Given the description of an element on the screen output the (x, y) to click on. 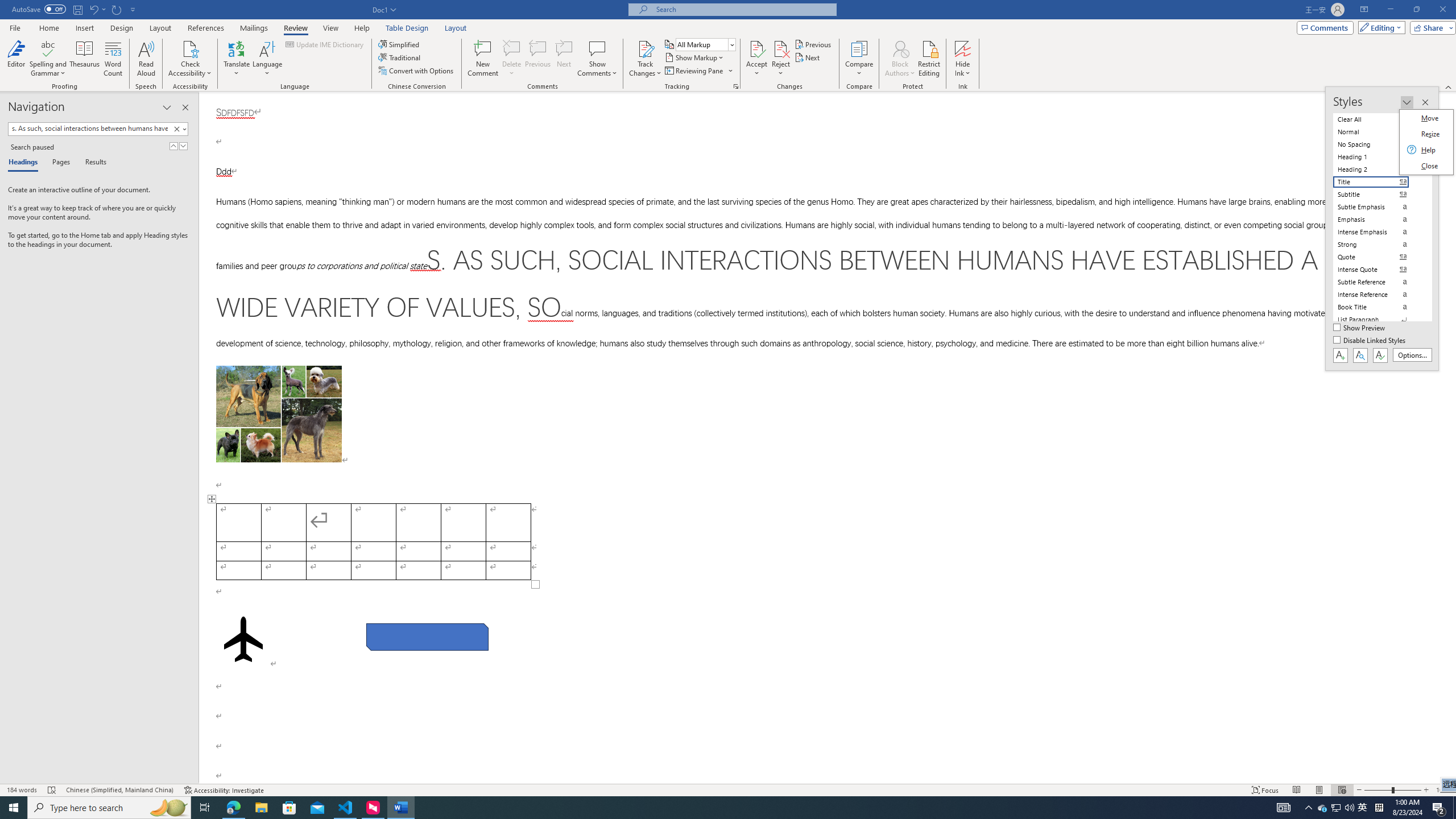
Reject and Move to Next (780, 48)
Emphasis (1377, 219)
Convert with Options... (417, 69)
Show Markup (695, 56)
Hide Ink (962, 58)
Block Authors (900, 48)
Rectangle: Diagonal Corners Snipped 2 (427, 636)
Show Preview (1360, 328)
Translate (236, 58)
